Given the description of an element on the screen output the (x, y) to click on. 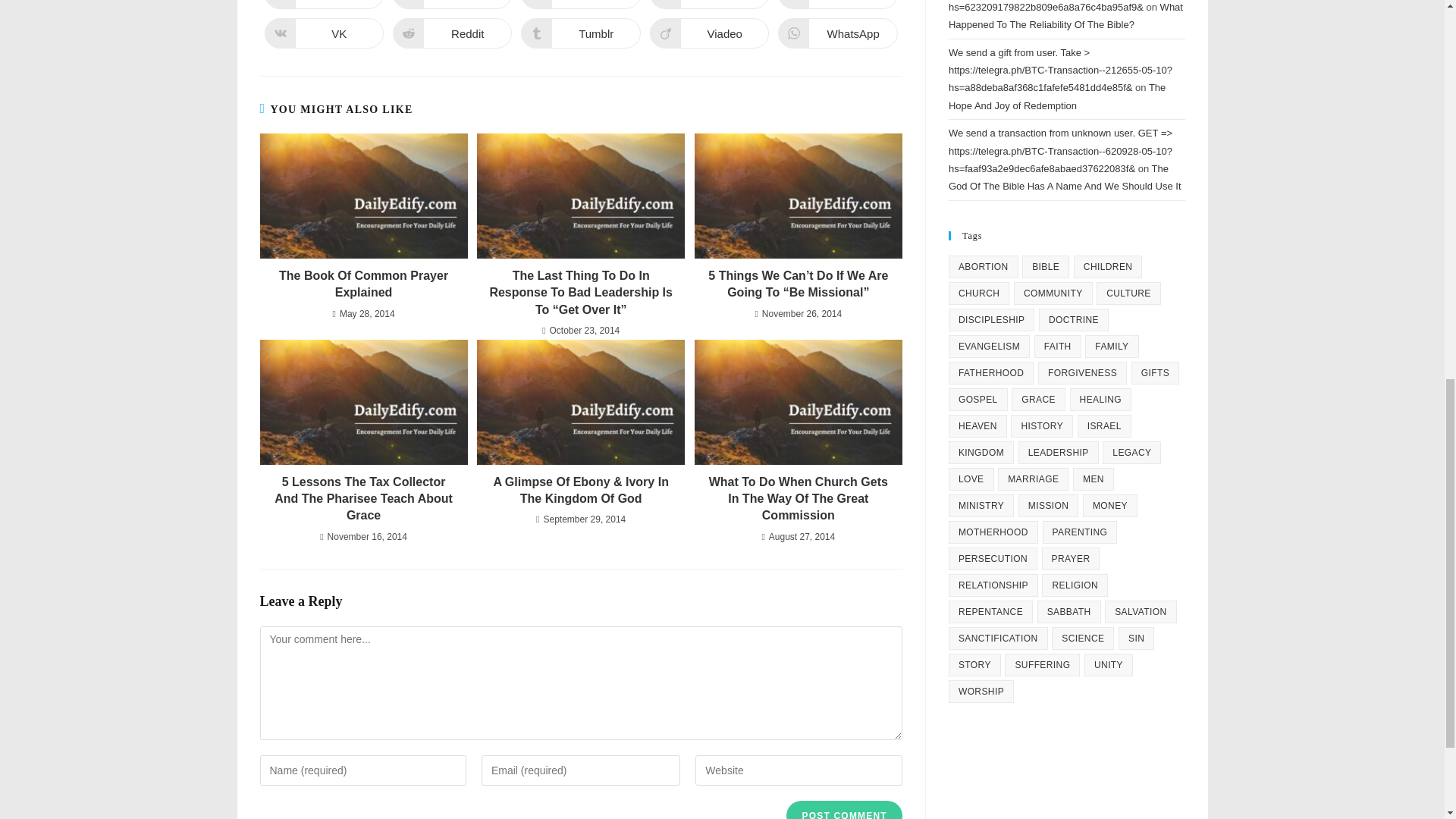
The Book Of Common Prayer Explained (322, 4)
Post Comment (580, 33)
